Given the description of an element on the screen output the (x, y) to click on. 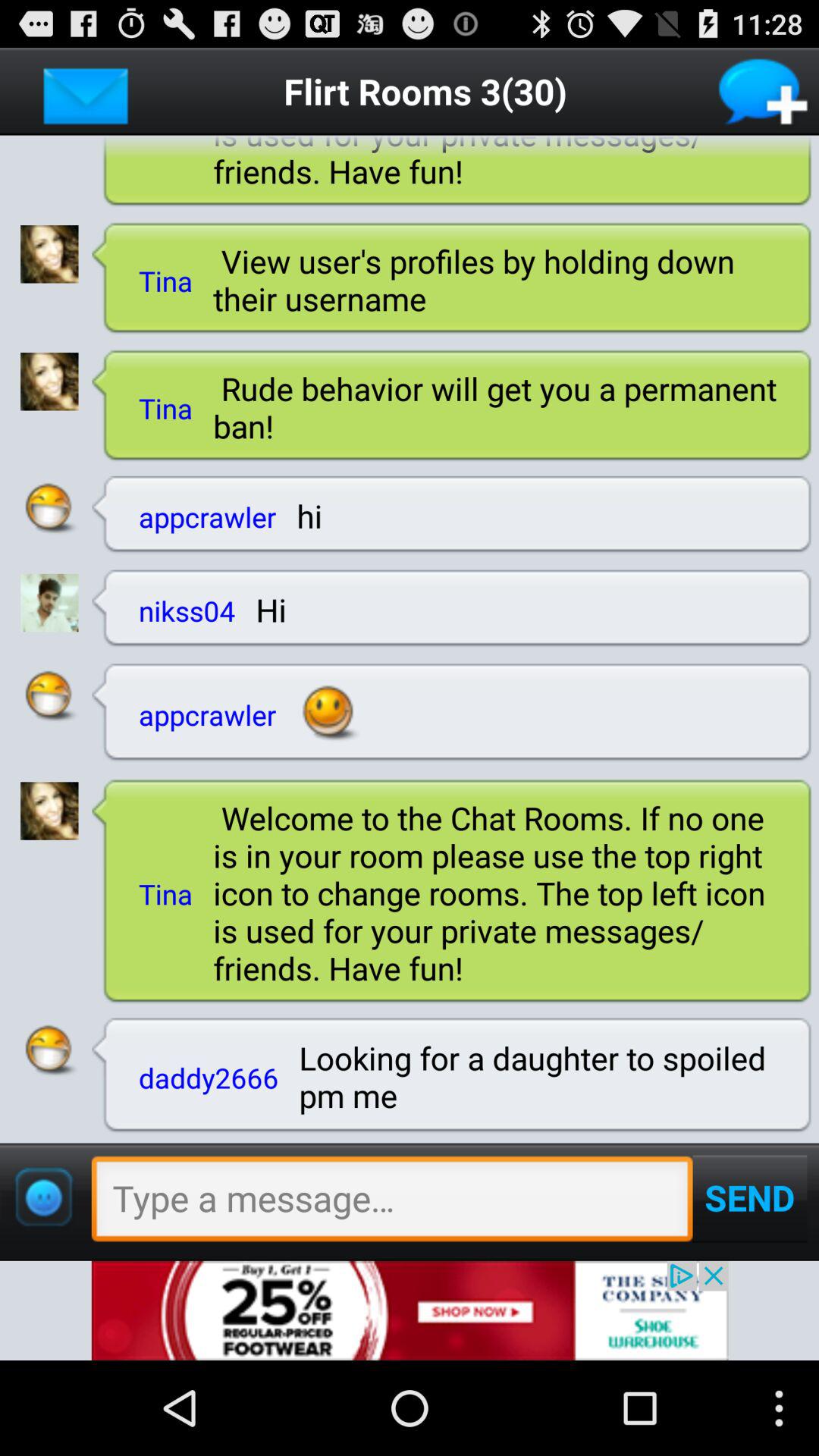
open profile (49, 696)
